Given the description of an element on the screen output the (x, y) to click on. 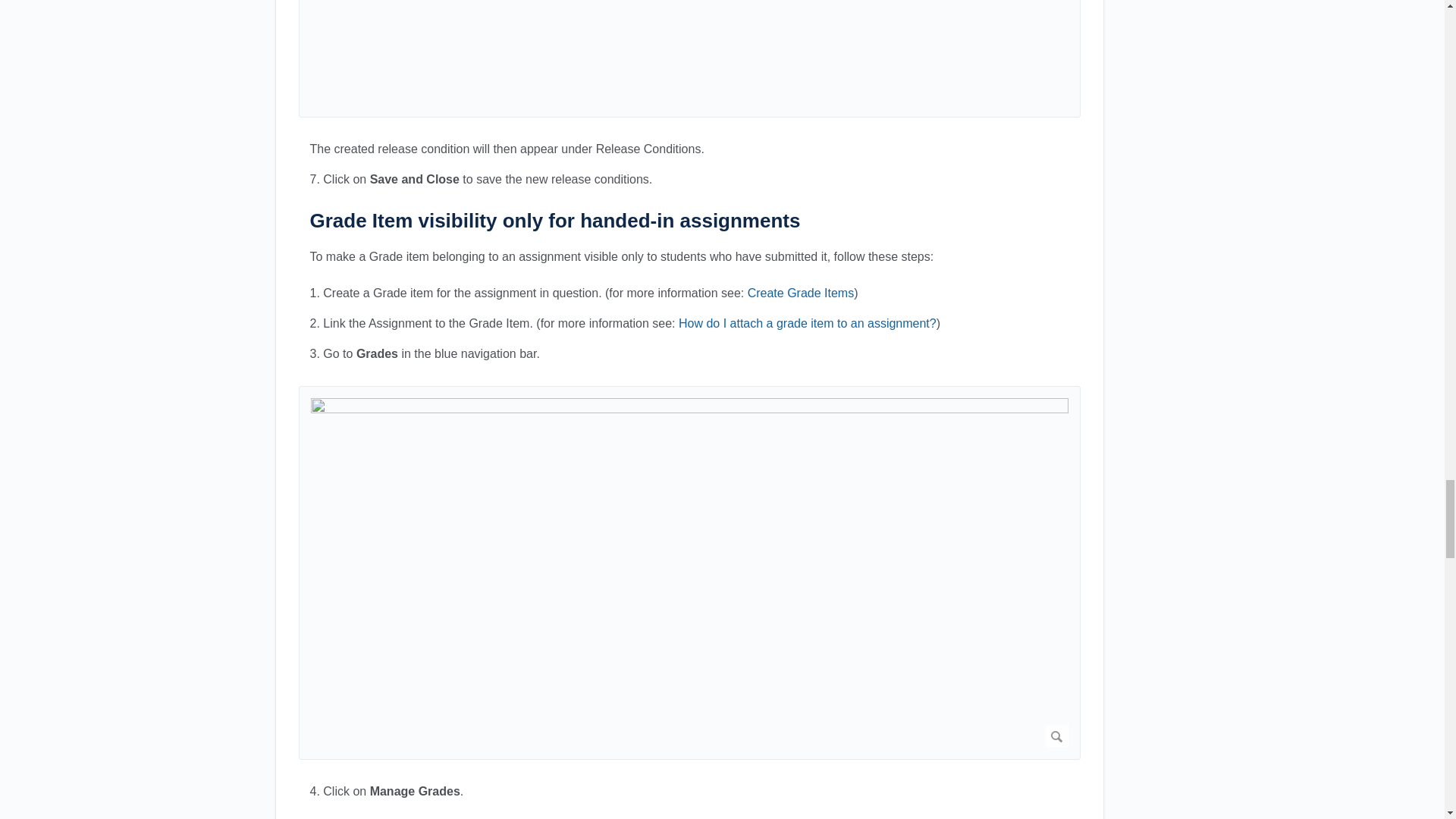
Create Grade Items (801, 292)
How do I attach a grade item to an assignment? (807, 323)
